Given the description of an element on the screen output the (x, y) to click on. 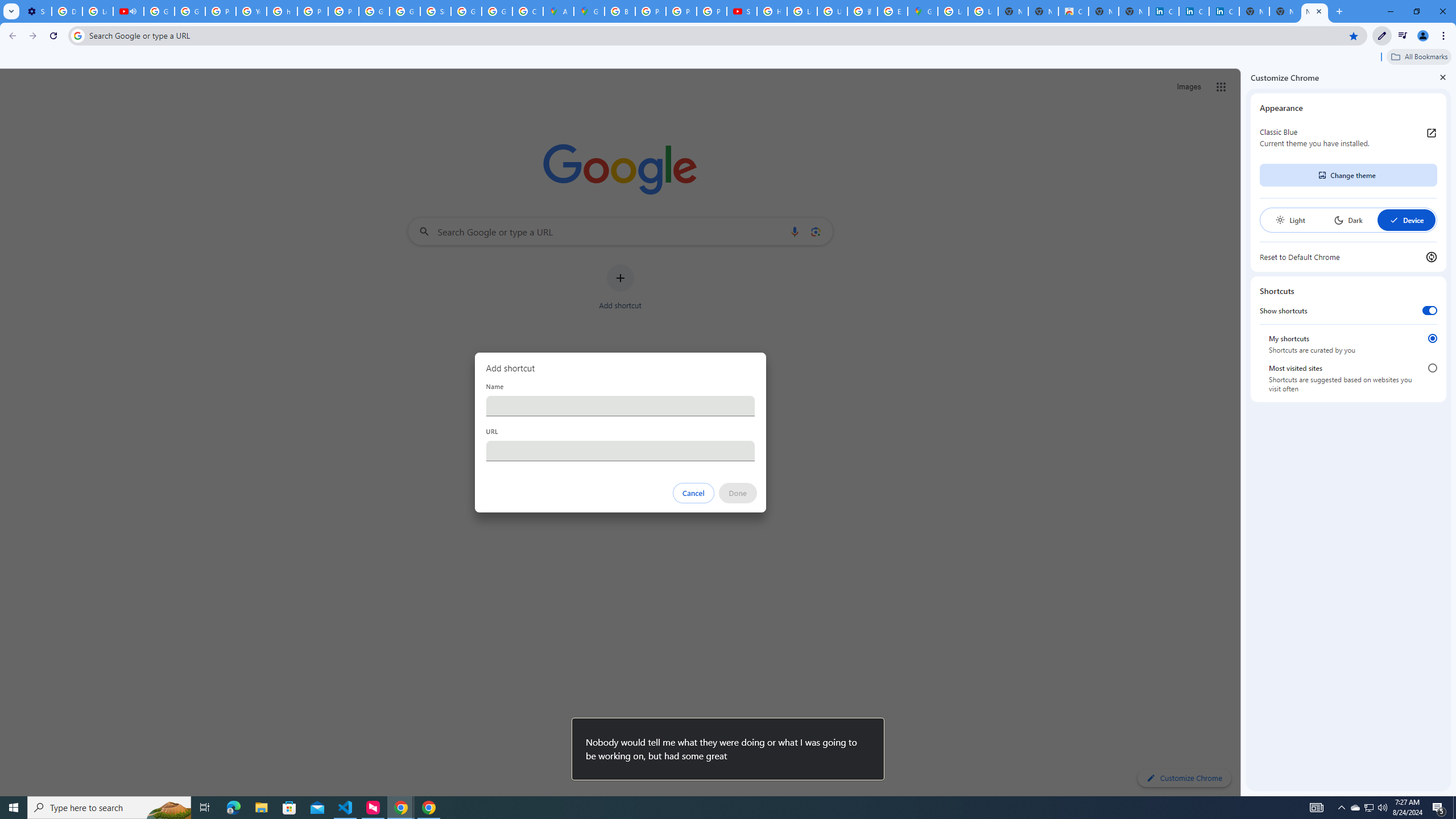
Privacy Help Center - Policies Help (312, 11)
Google Account Help (189, 11)
Light (1289, 219)
URL (620, 450)
Learn how to find your photos - Google Photos Help (97, 11)
Cancel (693, 493)
Search icon (77, 35)
Google Maps (589, 11)
Name (620, 405)
Google Account Help (158, 11)
Sign in - Google Accounts (434, 11)
Subscriptions - YouTube (741, 11)
